Given the description of an element on the screen output the (x, y) to click on. 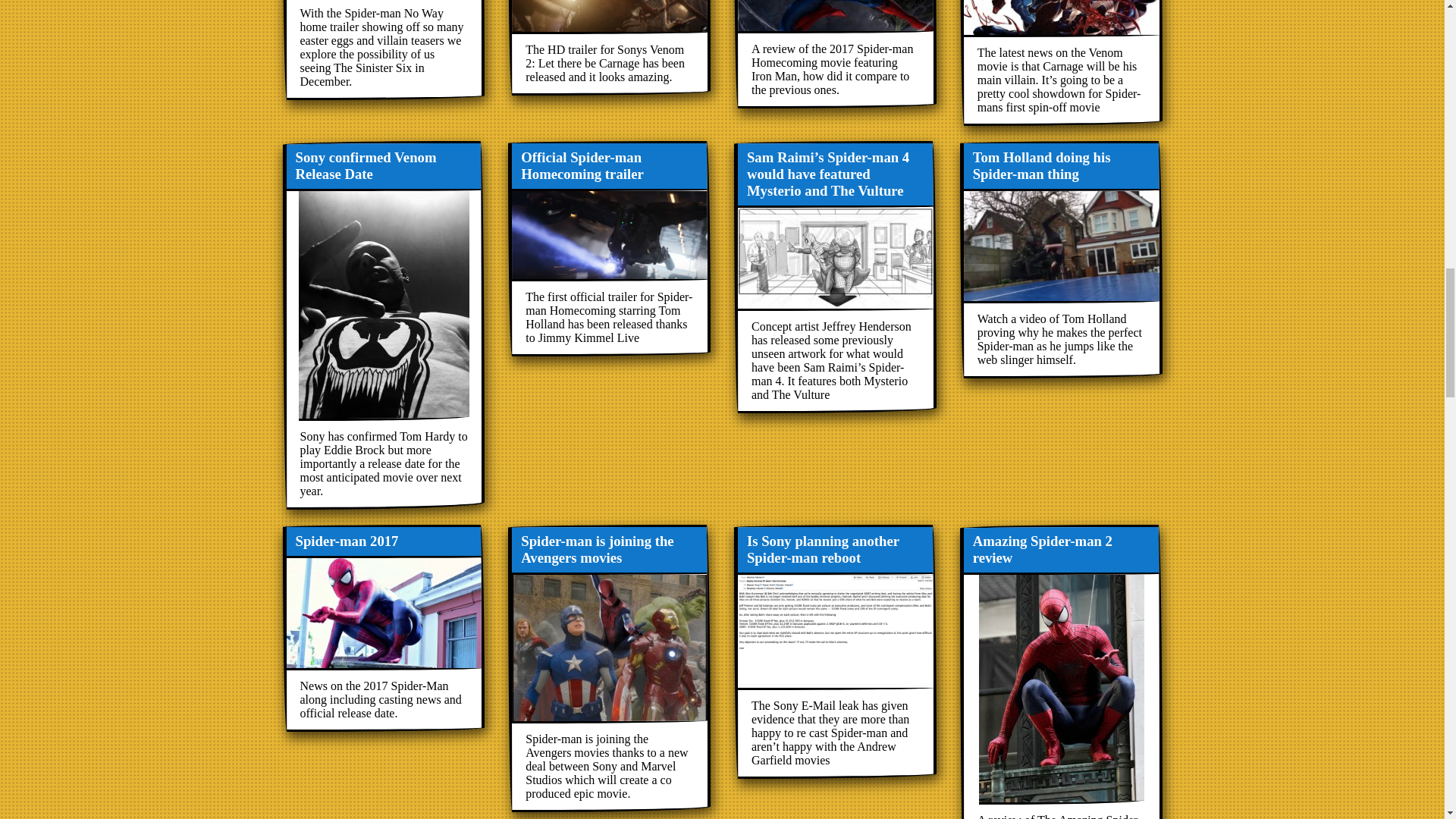
Carnage is the villain in the Tom Hardy Venom Movie (1060, 62)
Spider-man Homecoming Review (834, 53)
Sinister Six could appear in Spider-man No Way Home (383, 49)
Spider-man 2017 (383, 628)
